Given the description of an element on the screen output the (x, y) to click on. 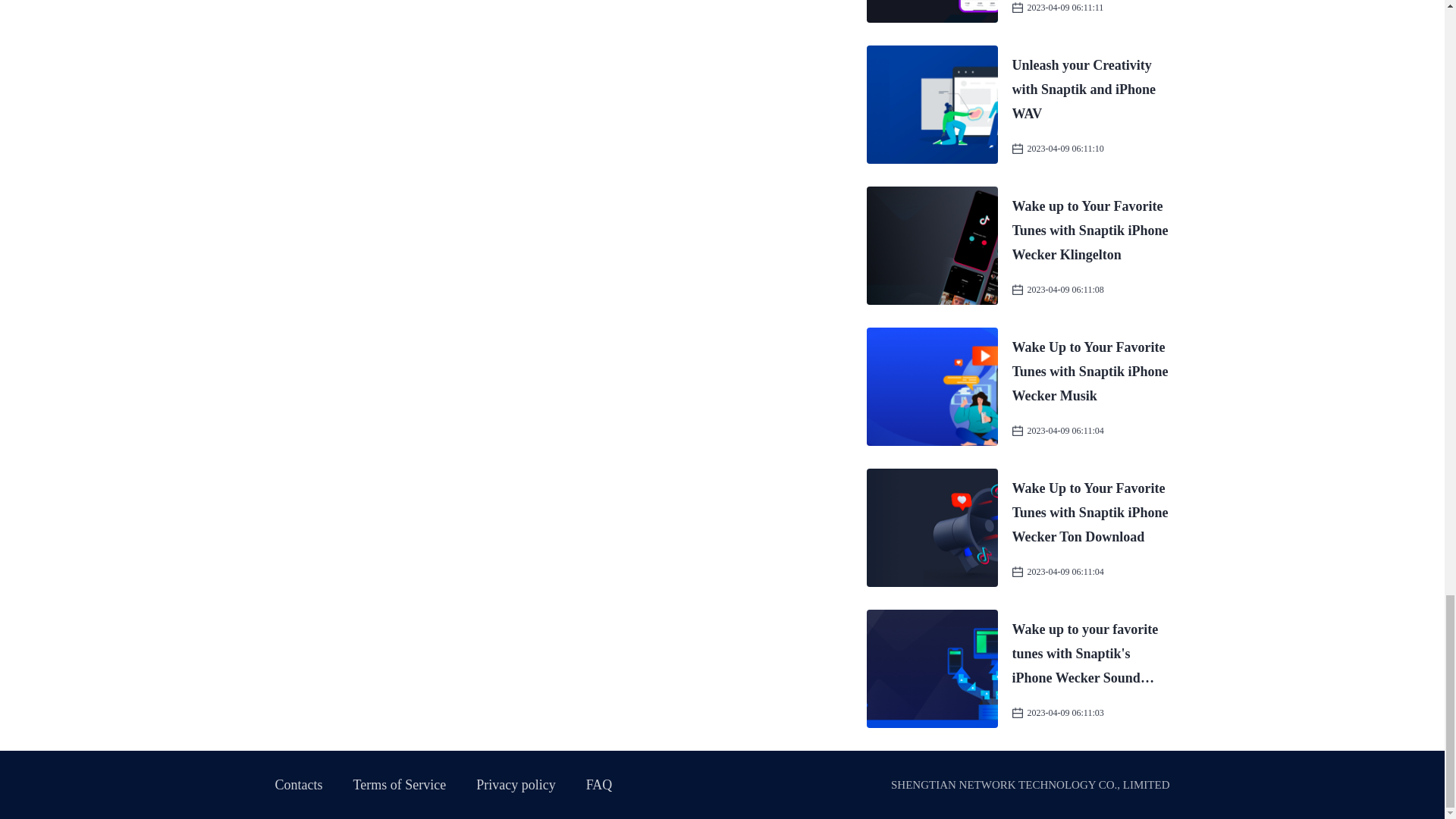
Privacy policy (515, 784)
Terms of Service (399, 784)
Contacts (298, 784)
FAQ (599, 784)
